Given the description of an element on the screen output the (x, y) to click on. 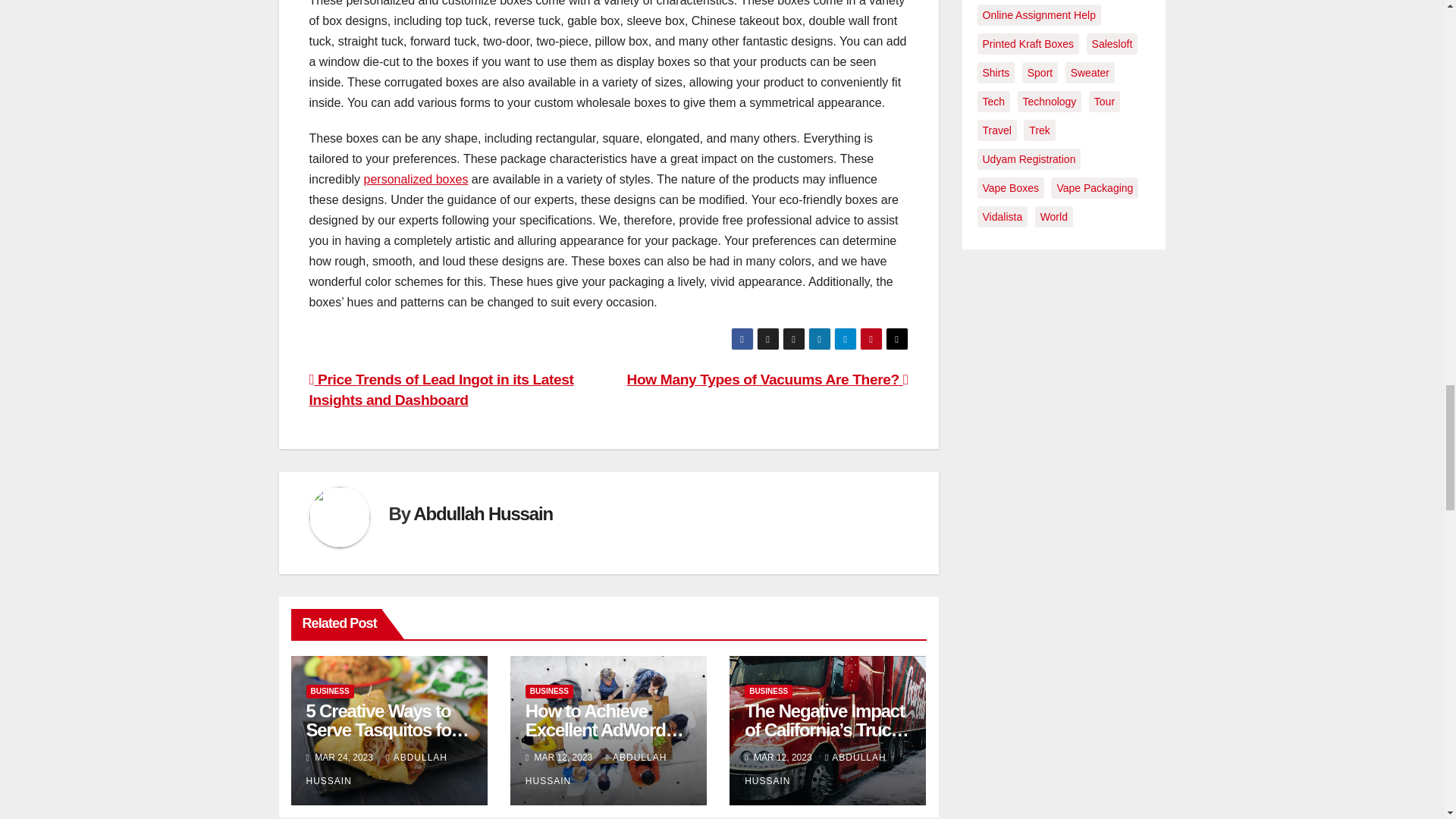
How Many Types of Vacuums Are There? (767, 379)
personalized boxes (416, 178)
